Given the description of an element on the screen output the (x, y) to click on. 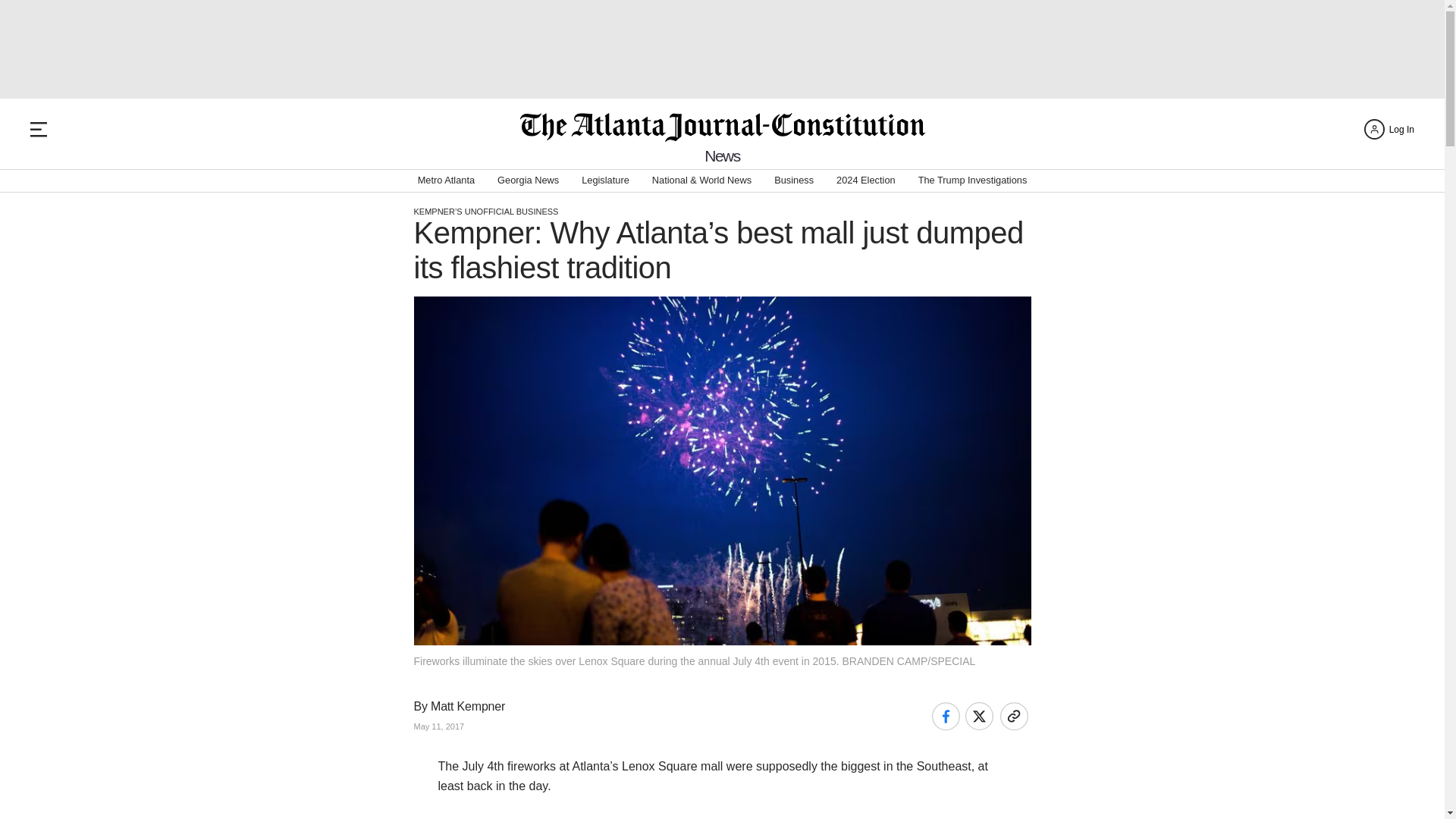
2024 Election (865, 180)
The Trump Investigations (972, 180)
Legislature (604, 180)
Metro Atlanta (445, 180)
Georgia News (528, 180)
Business (793, 180)
News (721, 155)
